Given the description of an element on the screen output the (x, y) to click on. 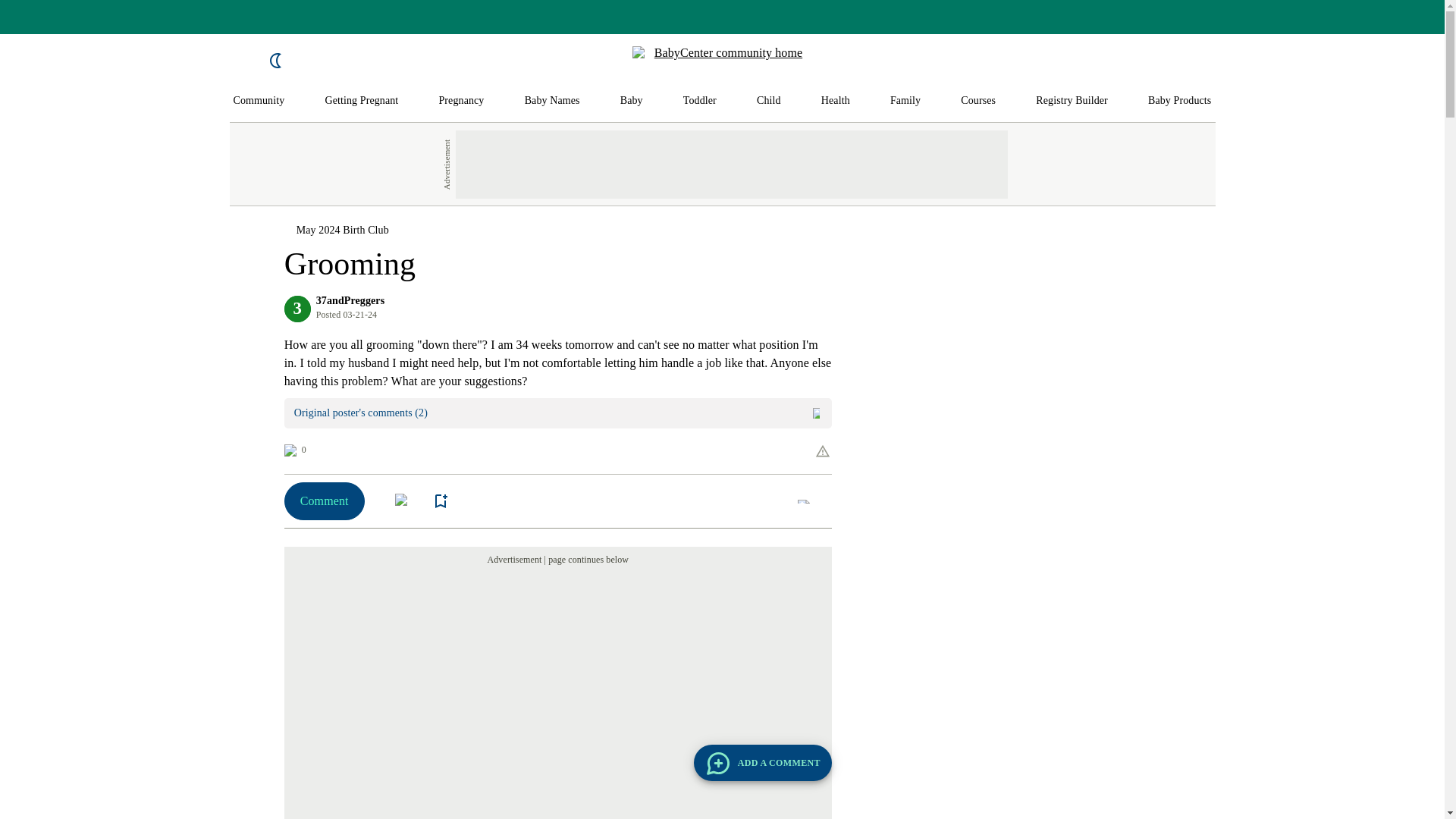
Baby Names (551, 101)
Pregnancy (460, 101)
Child (768, 101)
Courses (977, 101)
Toddler (699, 101)
Registry Builder (1071, 101)
Baby (631, 101)
Community (258, 101)
Baby Products (1179, 101)
Family (904, 101)
Health (835, 101)
Getting Pregnant (360, 101)
